Given the description of an element on the screen output the (x, y) to click on. 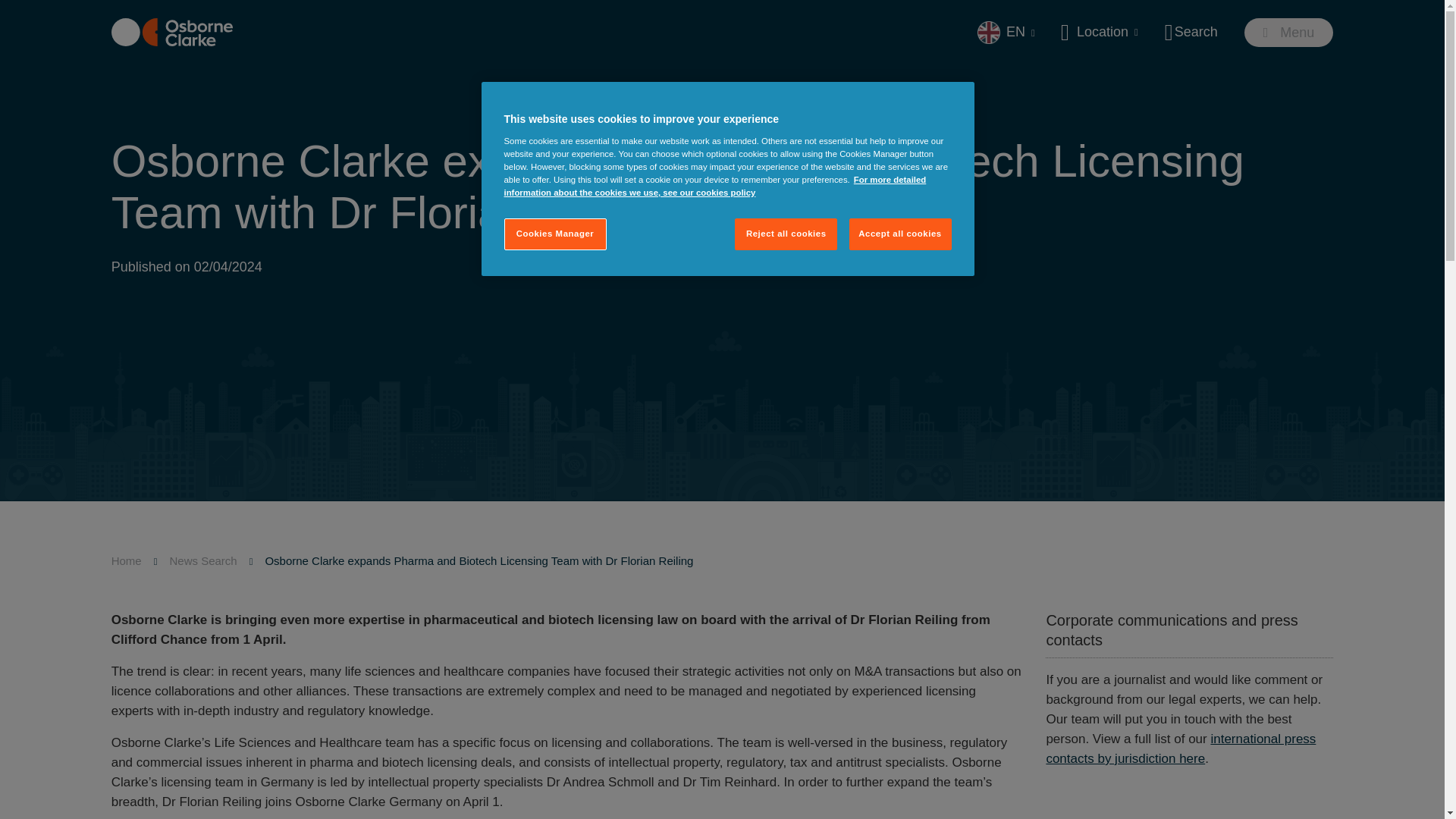
Osborne Clarke (172, 32)
Menu (1288, 32)
